Given the description of an element on the screen output the (x, y) to click on. 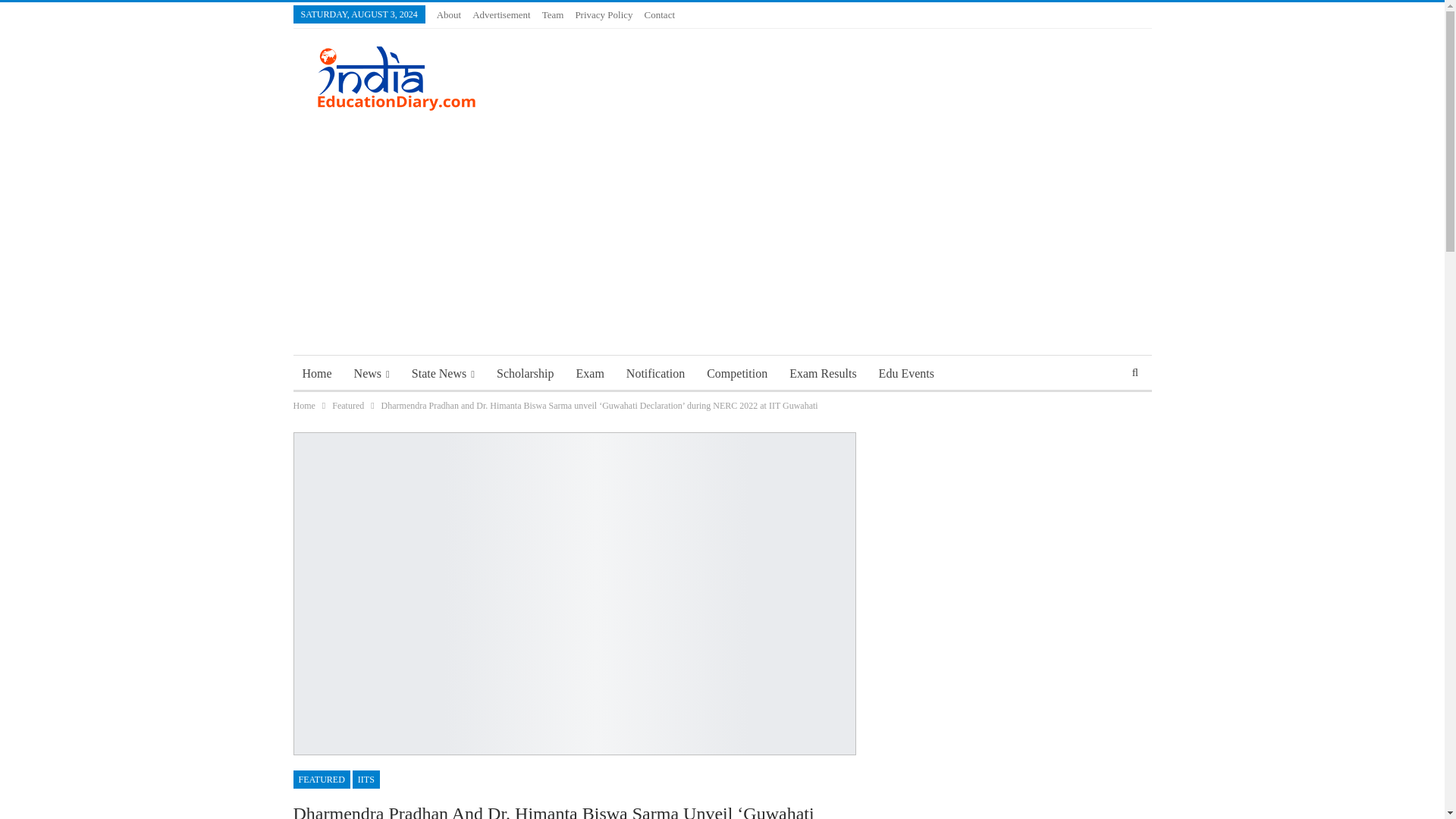
News (371, 373)
Privacy Policy (603, 14)
Team (552, 14)
Contact (660, 14)
Advertisement (501, 14)
State News (443, 373)
Home (316, 373)
About (448, 14)
